Given the description of an element on the screen output the (x, y) to click on. 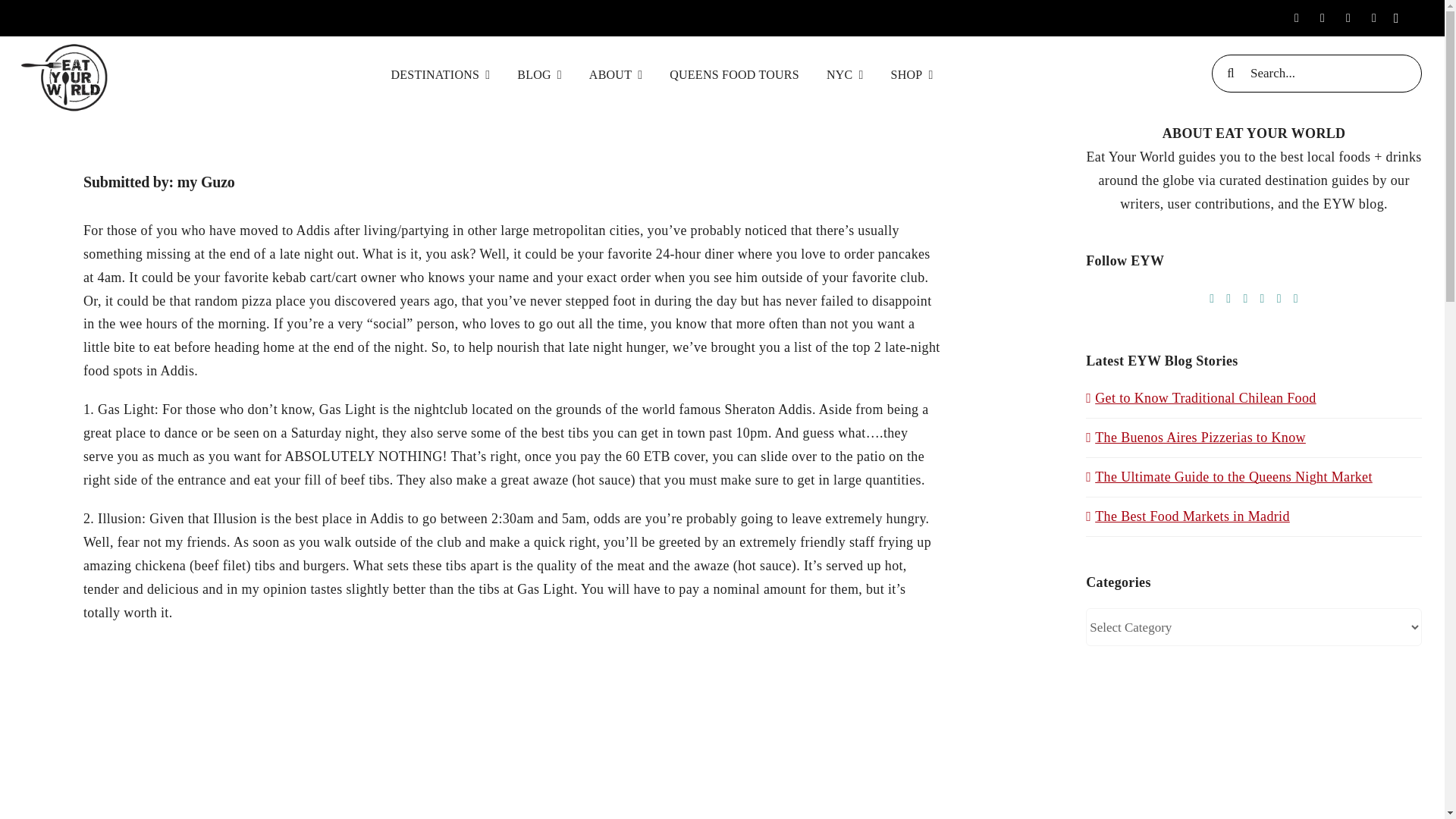
Submitted by: my Guzo (512, 170)
DESTINATIONS (440, 73)
About (615, 73)
